Given the description of an element on the screen output the (x, y) to click on. 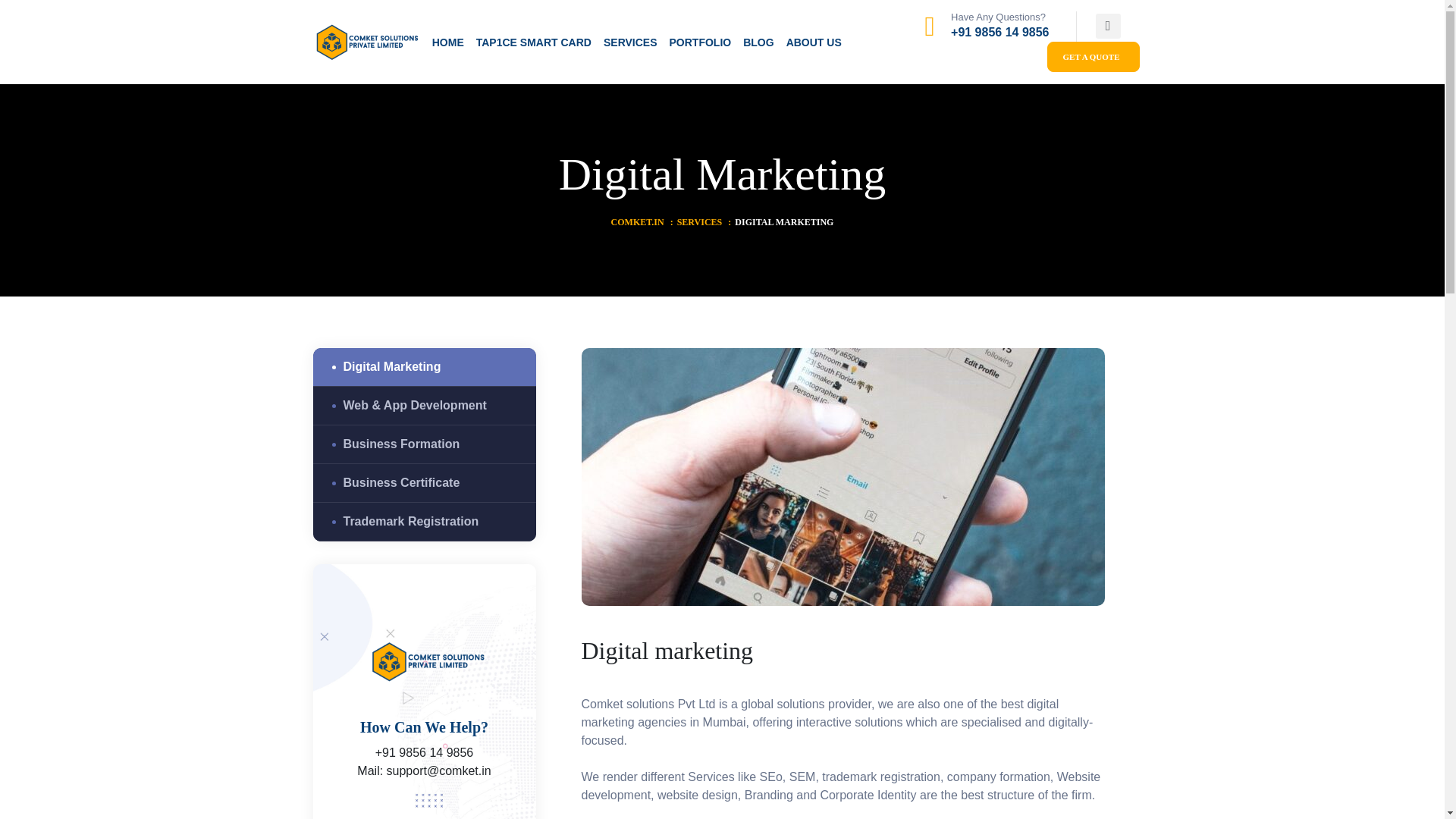
COMKET.IN (637, 222)
Go to comket.in. (637, 222)
TOP (1414, 783)
SERVICES (699, 222)
GET A QUOTE (1092, 56)
TAP1CE SMART CARD (533, 42)
Have Any Questions? (997, 16)
Go to Services. (699, 222)
